Given the description of an element on the screen output the (x, y) to click on. 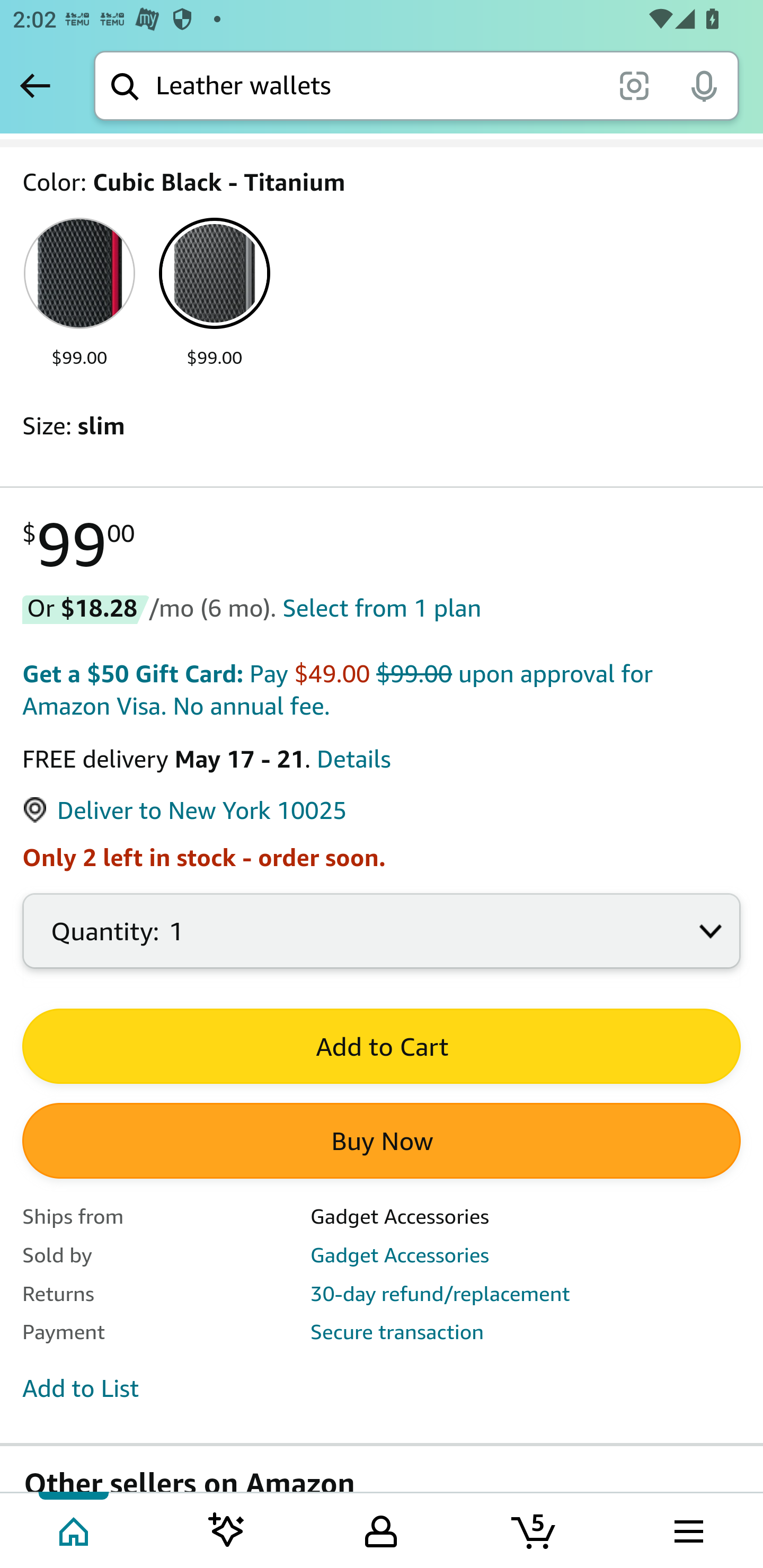
Back (35, 85)
scan it (633, 85)
Select from 1 plan (381, 607)
Details (353, 758)
Deliver to New York 10025‌ (184, 810)
1 (381, 941)
Add to Cart (381, 1046)
Buy Now (381, 1140)
Gadget Accessories (399, 1254)
Add to List (80, 1388)
Home Tab 1 of 5 (75, 1529)
Inspire feed Tab 2 of 5 (227, 1529)
Your Amazon.com Tab 3 of 5 (380, 1529)
Cart 5 items Tab 4 of 5 5 (534, 1529)
Browse menu Tab 5 of 5 (687, 1529)
